Given the description of an element on the screen output the (x, y) to click on. 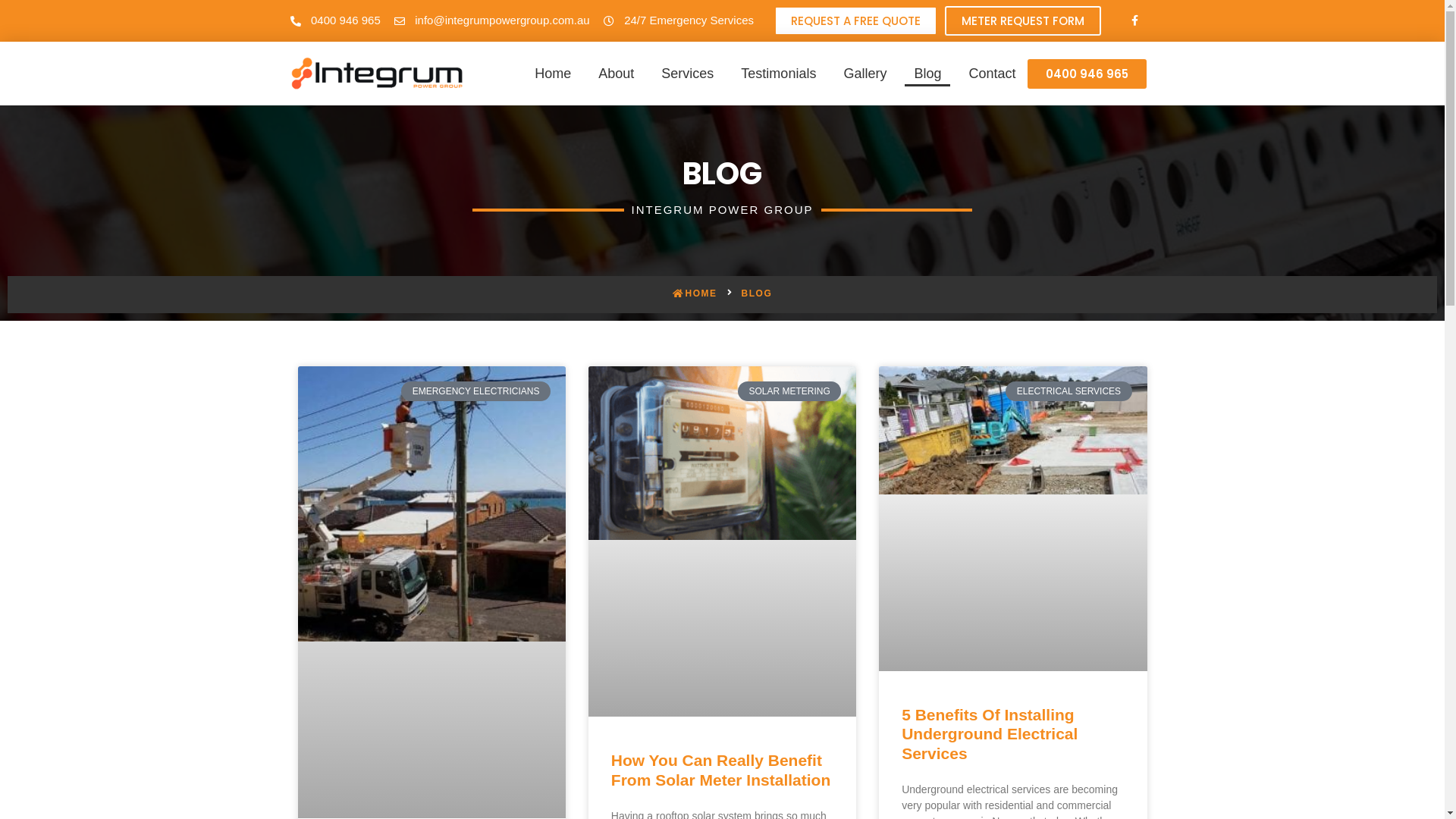
info@integrumpowergroup.com.au Element type: text (491, 20)
About Element type: text (616, 73)
How You Can Really Benefit From Solar Meter Installation Element type: text (720, 769)
Contact Element type: text (991, 73)
Testimonials Element type: text (778, 73)
0400 946 965 Element type: text (334, 20)
HOME Element type: text (694, 293)
Services Element type: text (687, 73)
METER REQUEST FORM Element type: text (1022, 20)
Home Element type: text (552, 73)
0400 946 965 Element type: text (1086, 73)
Blog Element type: text (927, 73)
REQUEST A FREE QUOTE Element type: text (855, 20)
5 Benefits Of Installing Underground Electrical Services Element type: text (989, 733)
Gallery Element type: text (864, 73)
